Given the description of an element on the screen output the (x, y) to click on. 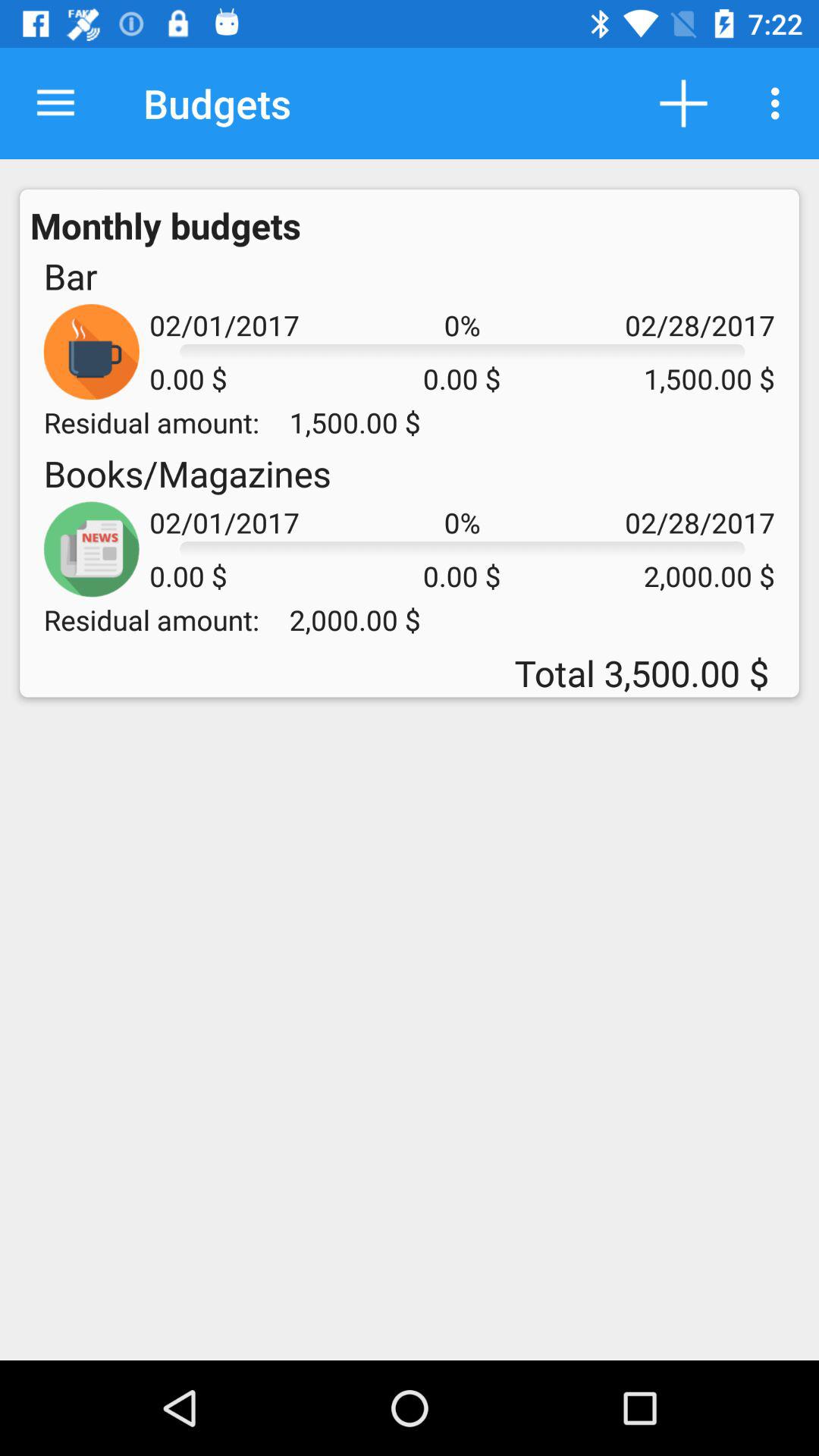
tap item to the left of budgets (55, 103)
